Given the description of an element on the screen output the (x, y) to click on. 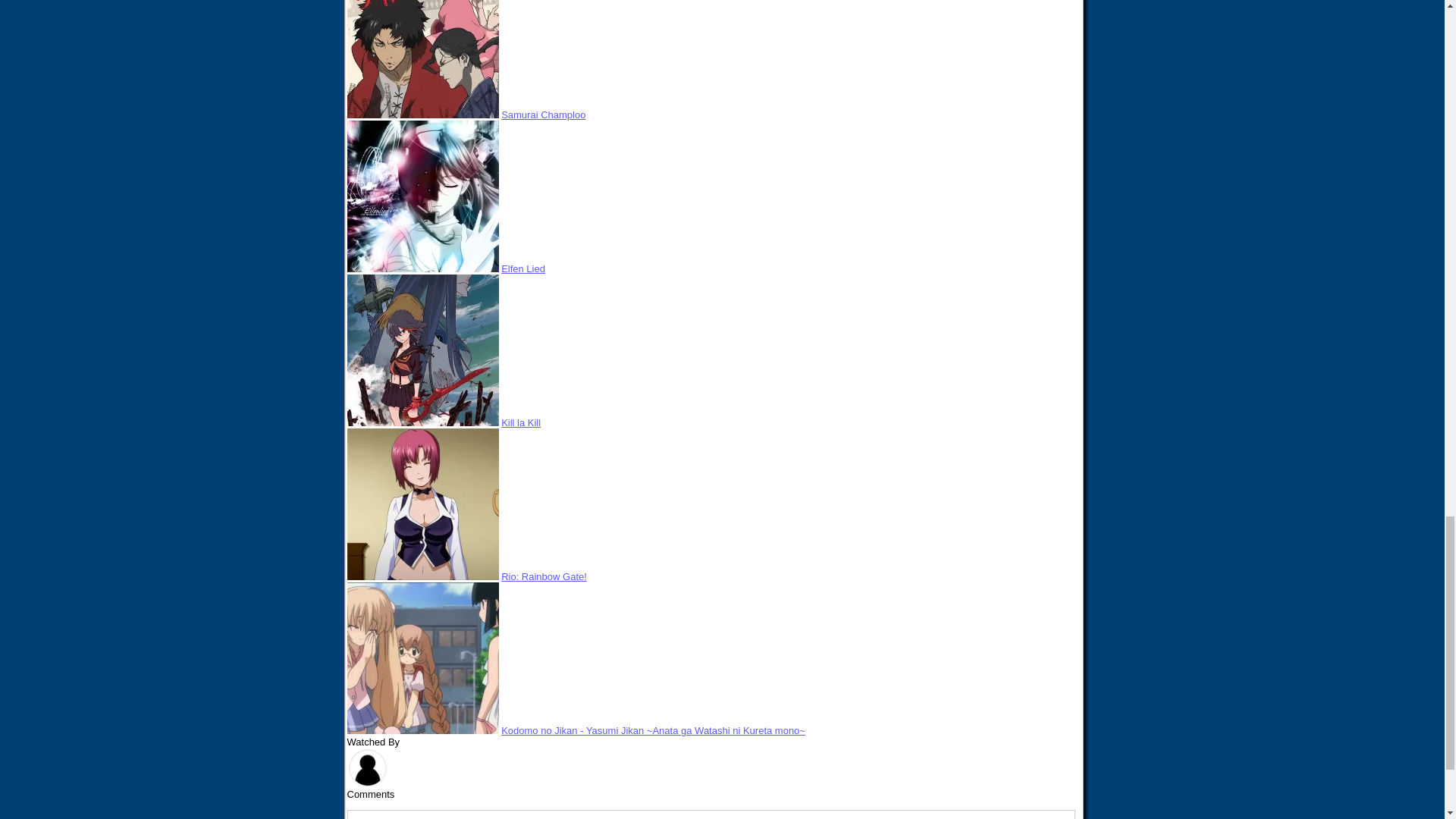
Samurai Champloo (542, 114)
Rio: Rainbow Gate! (543, 576)
Kill la Kill (520, 422)
Elfen Lied (522, 268)
